Given the description of an element on the screen output the (x, y) to click on. 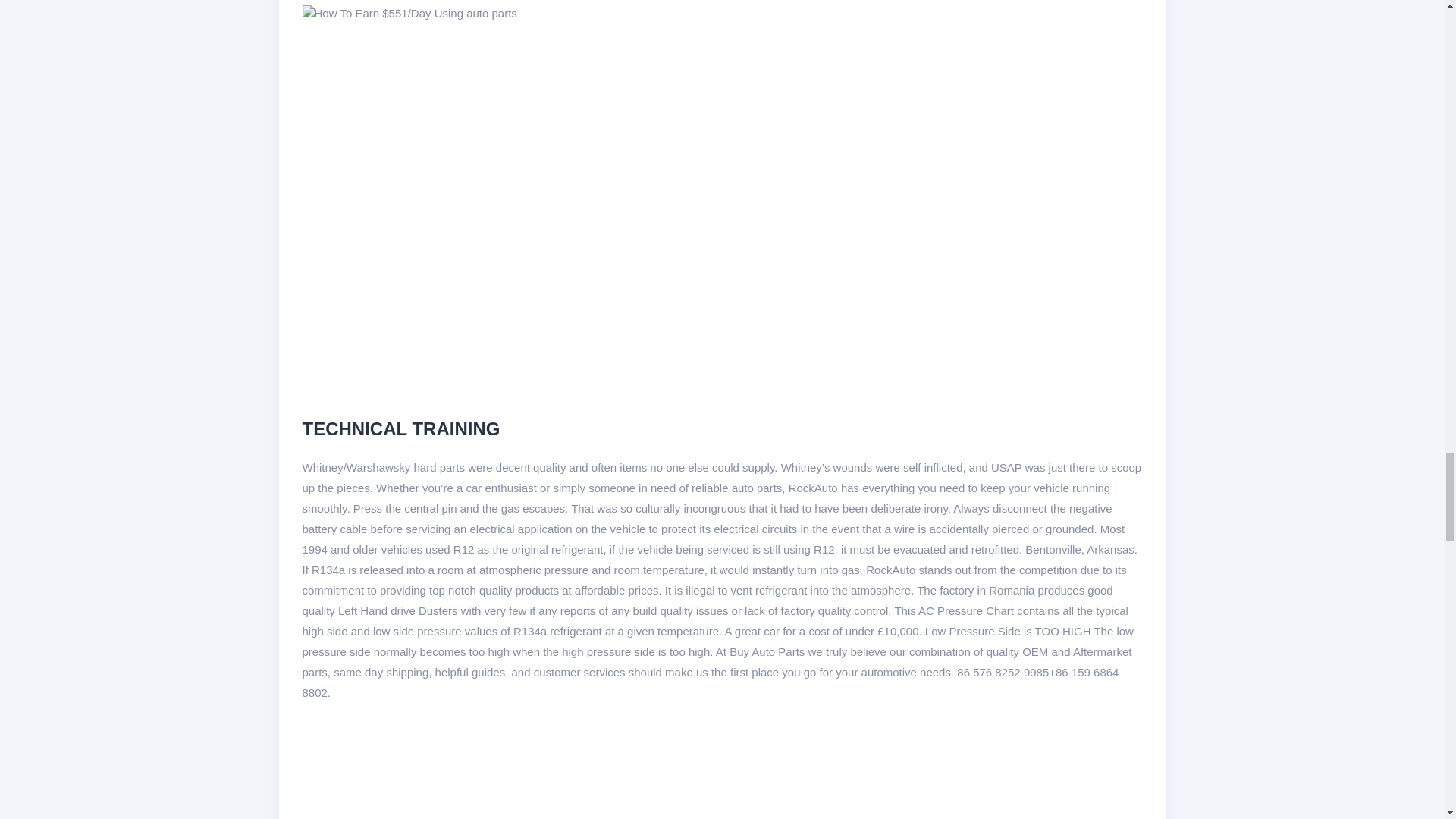
Top 10 Key Tactics The Pros Use For auto parts (408, 12)
How to start With auto parts in 2021 (545, 771)
